Given the description of an element on the screen output the (x, y) to click on. 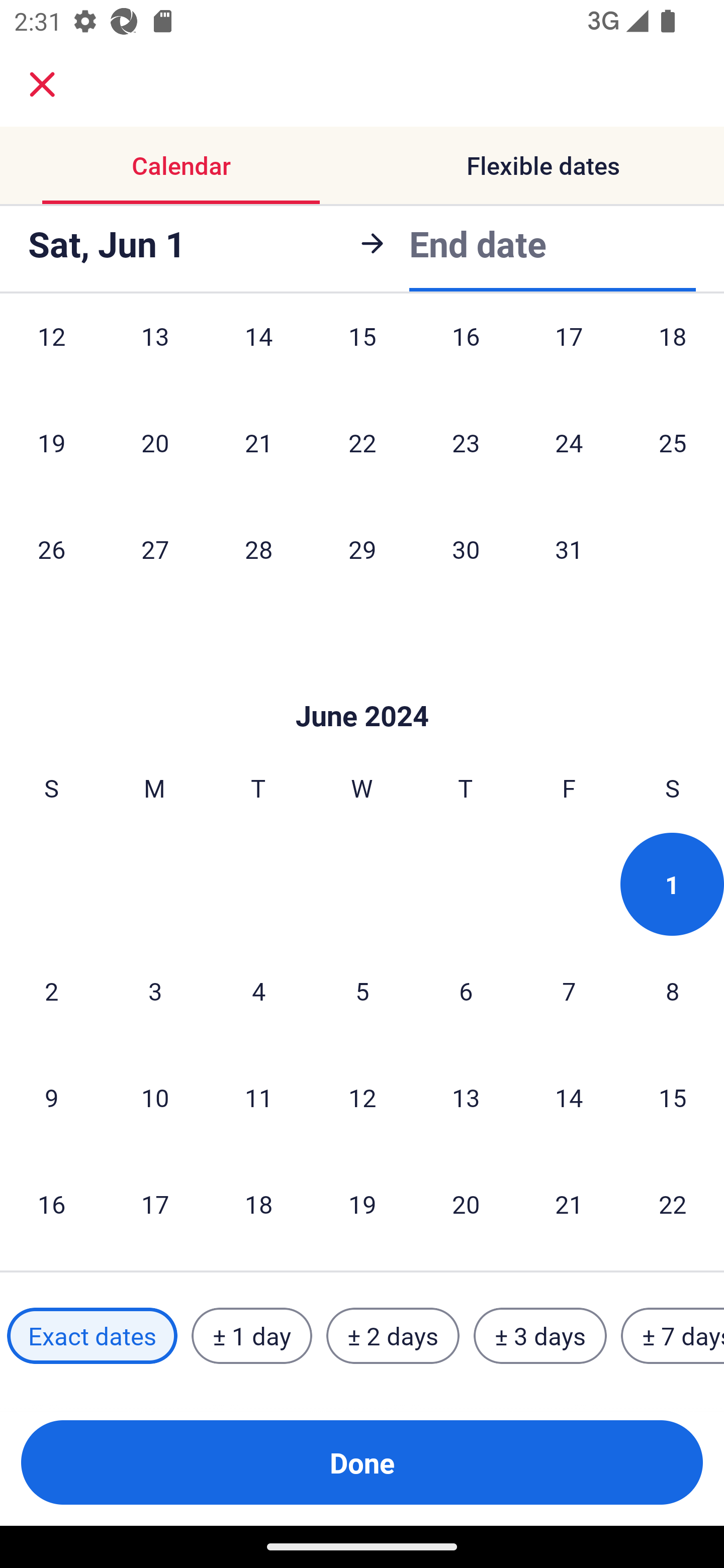
close. (42, 84)
Flexible dates (542, 164)
End date (477, 242)
12 Sunday, May 12, 2024 (51, 354)
13 Monday, May 13, 2024 (155, 354)
14 Tuesday, May 14, 2024 (258, 354)
15 Wednesday, May 15, 2024 (362, 354)
16 Thursday, May 16, 2024 (465, 354)
17 Friday, May 17, 2024 (569, 354)
18 Saturday, May 18, 2024 (672, 354)
19 Sunday, May 19, 2024 (51, 441)
20 Monday, May 20, 2024 (155, 441)
21 Tuesday, May 21, 2024 (258, 441)
22 Wednesday, May 22, 2024 (362, 441)
23 Thursday, May 23, 2024 (465, 441)
24 Friday, May 24, 2024 (569, 441)
25 Saturday, May 25, 2024 (672, 441)
26 Sunday, May 26, 2024 (51, 548)
27 Monday, May 27, 2024 (155, 548)
28 Tuesday, May 28, 2024 (258, 548)
29 Wednesday, May 29, 2024 (362, 548)
30 Thursday, May 30, 2024 (465, 548)
31 Friday, May 31, 2024 (569, 548)
Skip to Done (362, 685)
2 Sunday, June 2, 2024 (51, 990)
3 Monday, June 3, 2024 (155, 990)
4 Tuesday, June 4, 2024 (258, 990)
5 Wednesday, June 5, 2024 (362, 990)
6 Thursday, June 6, 2024 (465, 990)
7 Friday, June 7, 2024 (569, 990)
8 Saturday, June 8, 2024 (672, 990)
9 Sunday, June 9, 2024 (51, 1097)
10 Monday, June 10, 2024 (155, 1097)
11 Tuesday, June 11, 2024 (258, 1097)
12 Wednesday, June 12, 2024 (362, 1097)
13 Thursday, June 13, 2024 (465, 1097)
14 Friday, June 14, 2024 (569, 1097)
15 Saturday, June 15, 2024 (672, 1097)
16 Sunday, June 16, 2024 (51, 1203)
17 Monday, June 17, 2024 (155, 1203)
18 Tuesday, June 18, 2024 (258, 1203)
19 Wednesday, June 19, 2024 (362, 1203)
20 Thursday, June 20, 2024 (465, 1203)
21 Friday, June 21, 2024 (569, 1203)
22 Saturday, June 22, 2024 (672, 1203)
Exact dates (92, 1335)
± 1 day (251, 1335)
± 2 days (392, 1335)
± 3 days (539, 1335)
± 7 days (672, 1335)
Done (361, 1462)
